Given the description of an element on the screen output the (x, y) to click on. 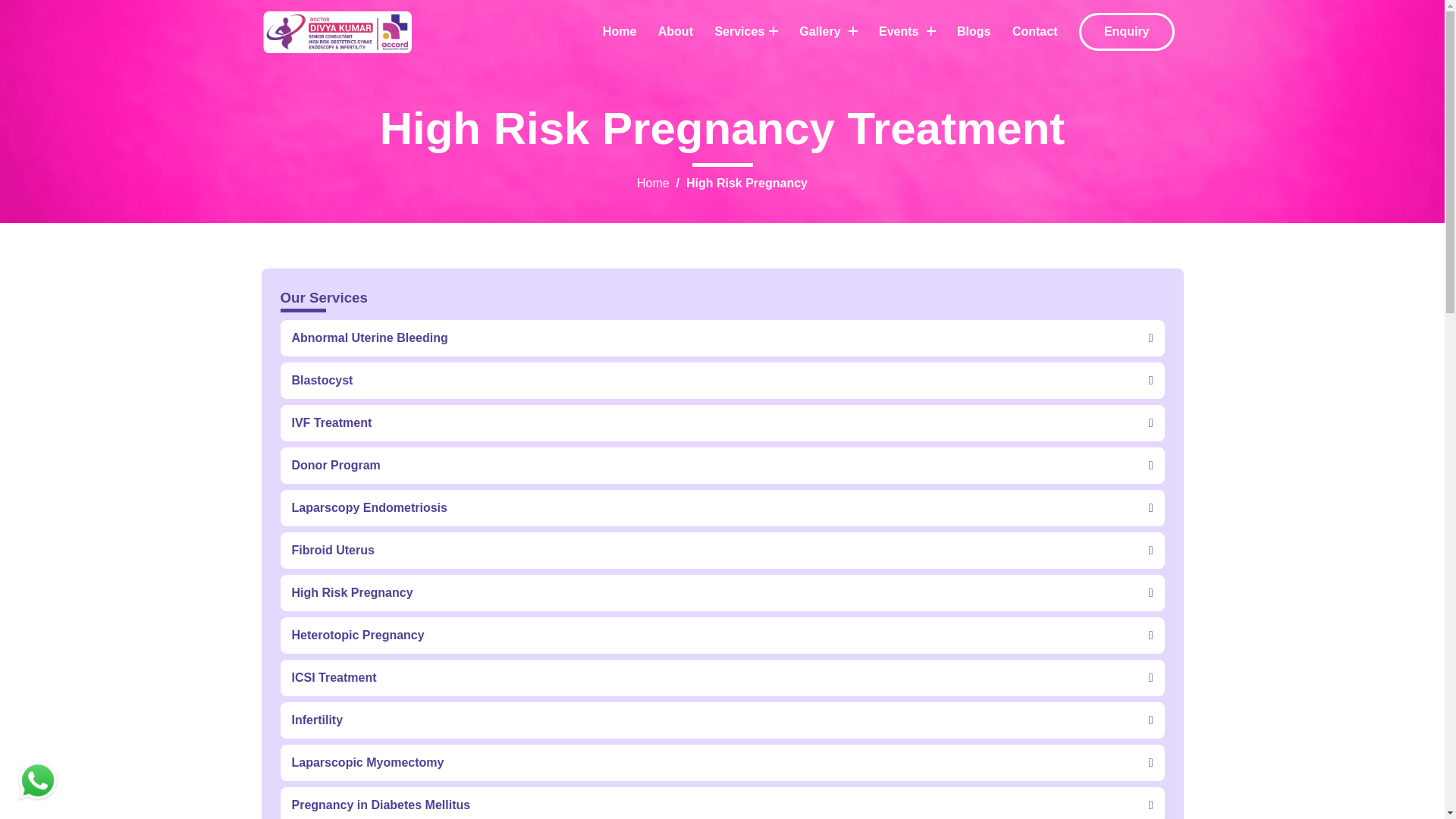
Abnormal Uterine Bleeding (722, 337)
Blastocyst (722, 401)
whatsapp (37, 780)
Home (653, 182)
Laparscopy Endometriosis (722, 528)
Donor Program (722, 486)
Gallery (828, 31)
High Risk Pregnancy (722, 613)
logo (336, 32)
Events (907, 31)
